Given the description of an element on the screen output the (x, y) to click on. 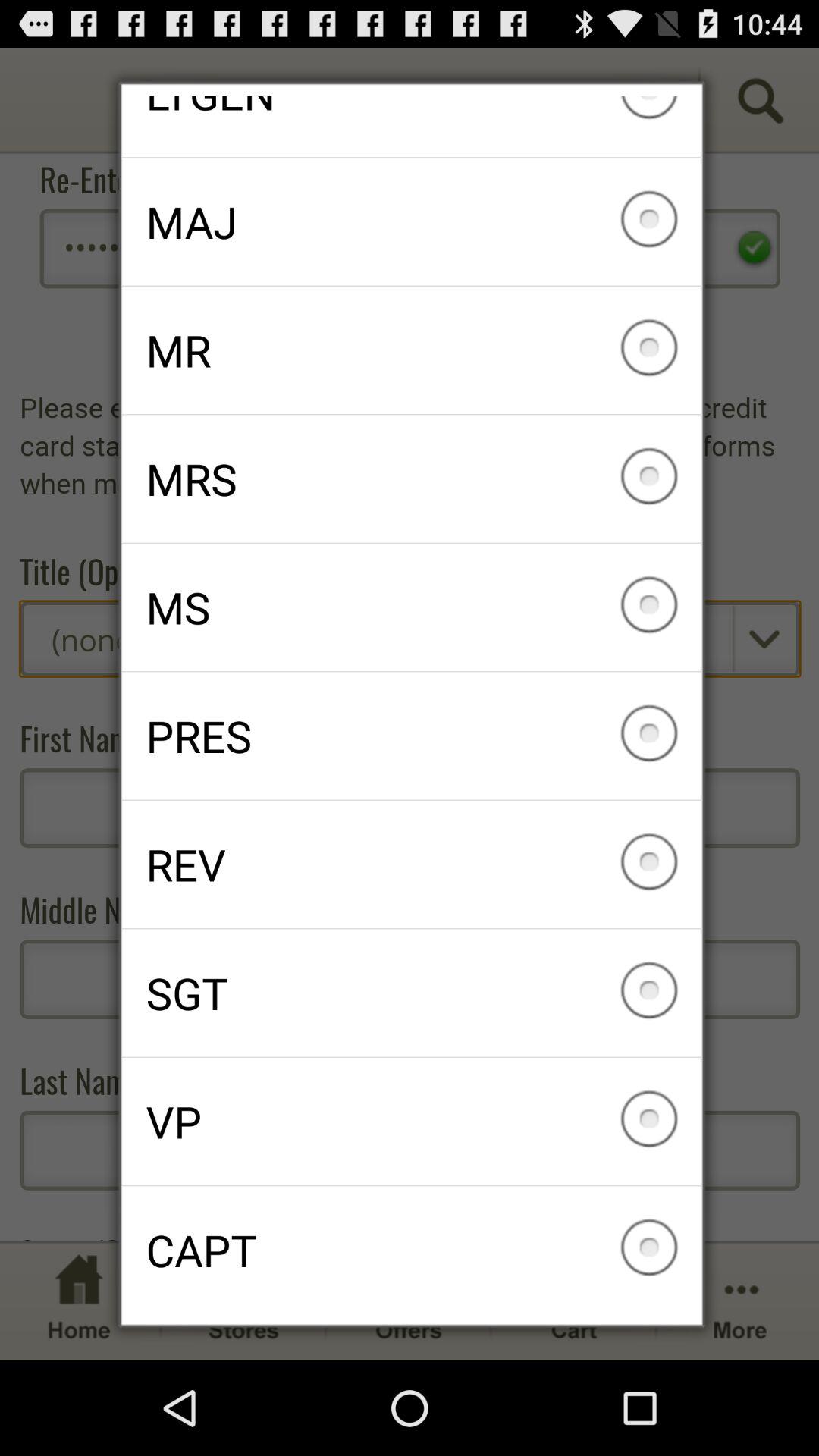
tap ms icon (411, 607)
